Given the description of an element on the screen output the (x, y) to click on. 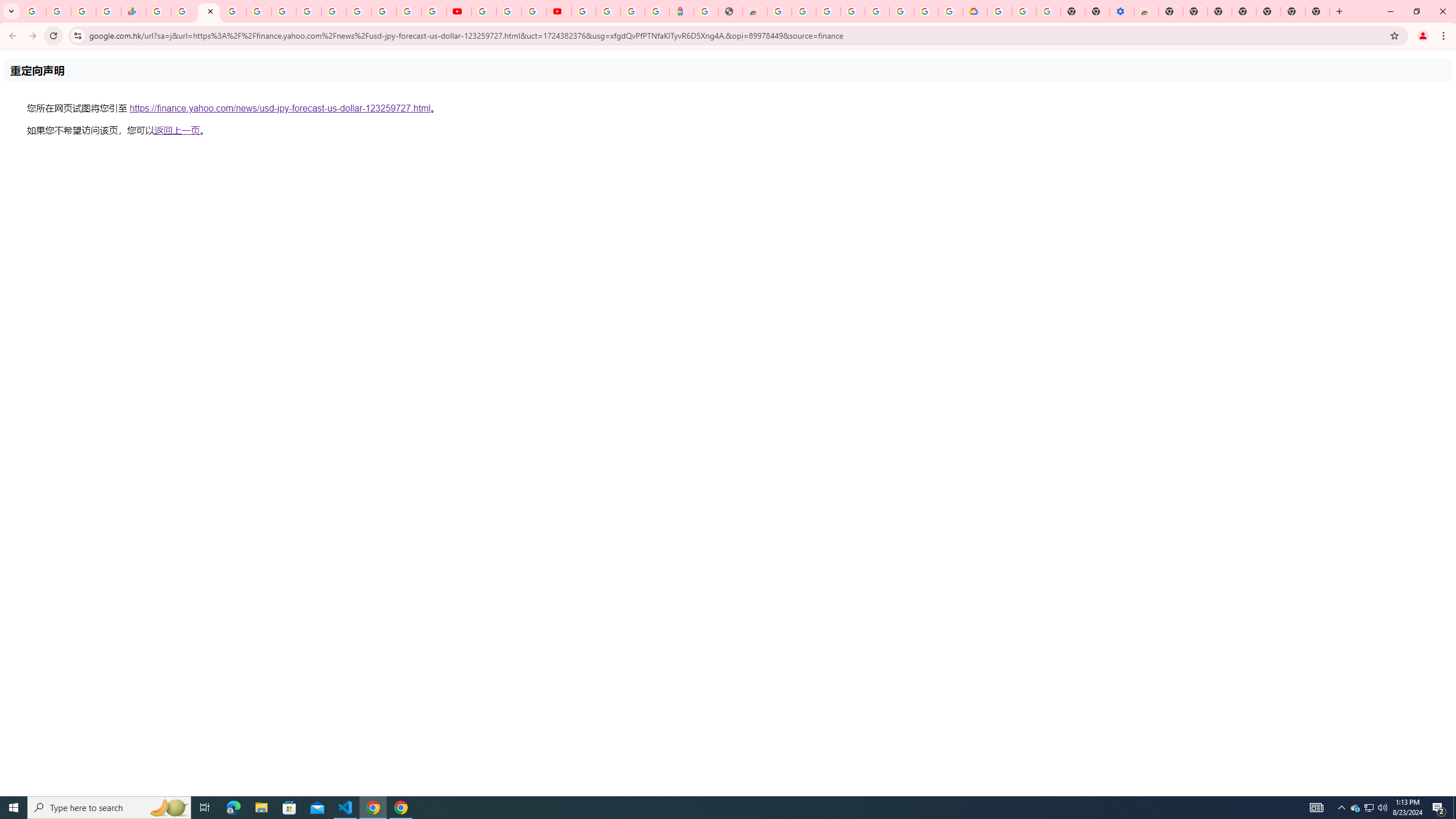
YouTube (483, 11)
Sign in - Google Accounts (999, 11)
Chrome Web Store - Accessibility extensions (1145, 11)
Create your Google Account (533, 11)
